Given the description of an element on the screen output the (x, y) to click on. 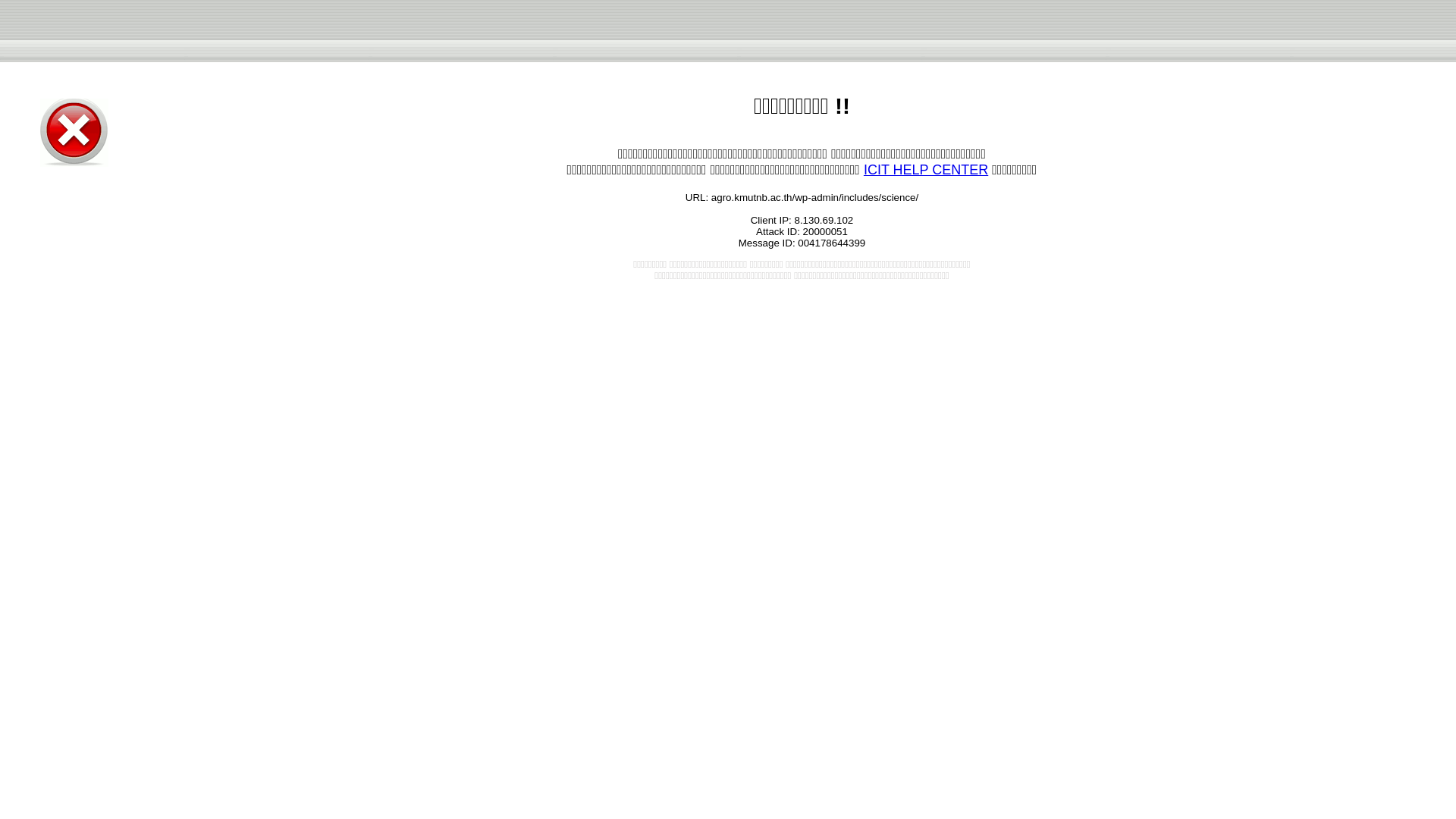
ICIT HELP CENTER (925, 169)
